Given the description of an element on the screen output the (x, y) to click on. 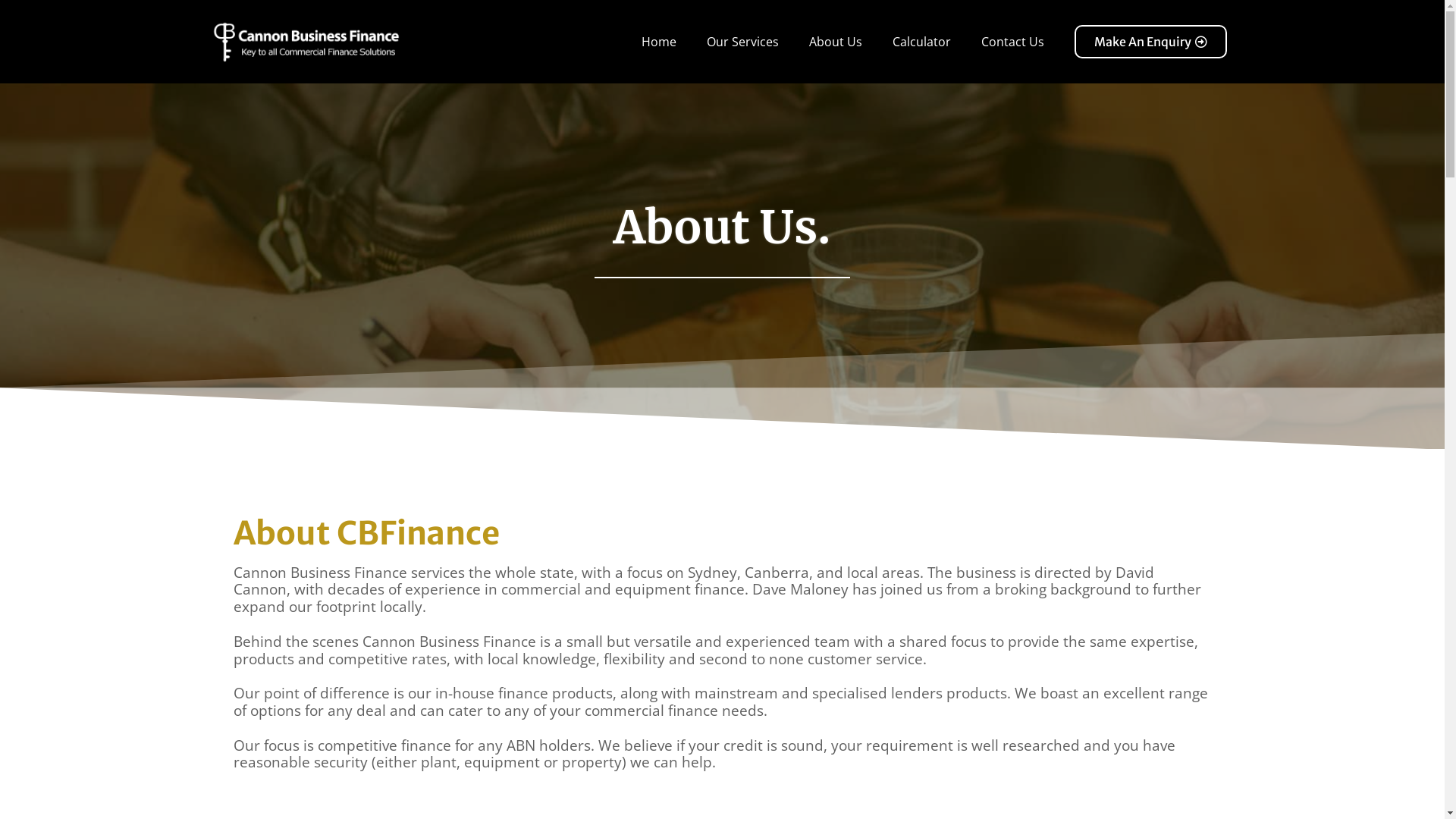
Contact Us Element type: text (1012, 41)
Our Services Element type: text (742, 41)
Home Element type: text (658, 41)
Calculator Element type: text (921, 41)
Make An Enquiry Element type: text (1150, 41)
About Us Element type: text (835, 41)
